Given the description of an element on the screen output the (x, y) to click on. 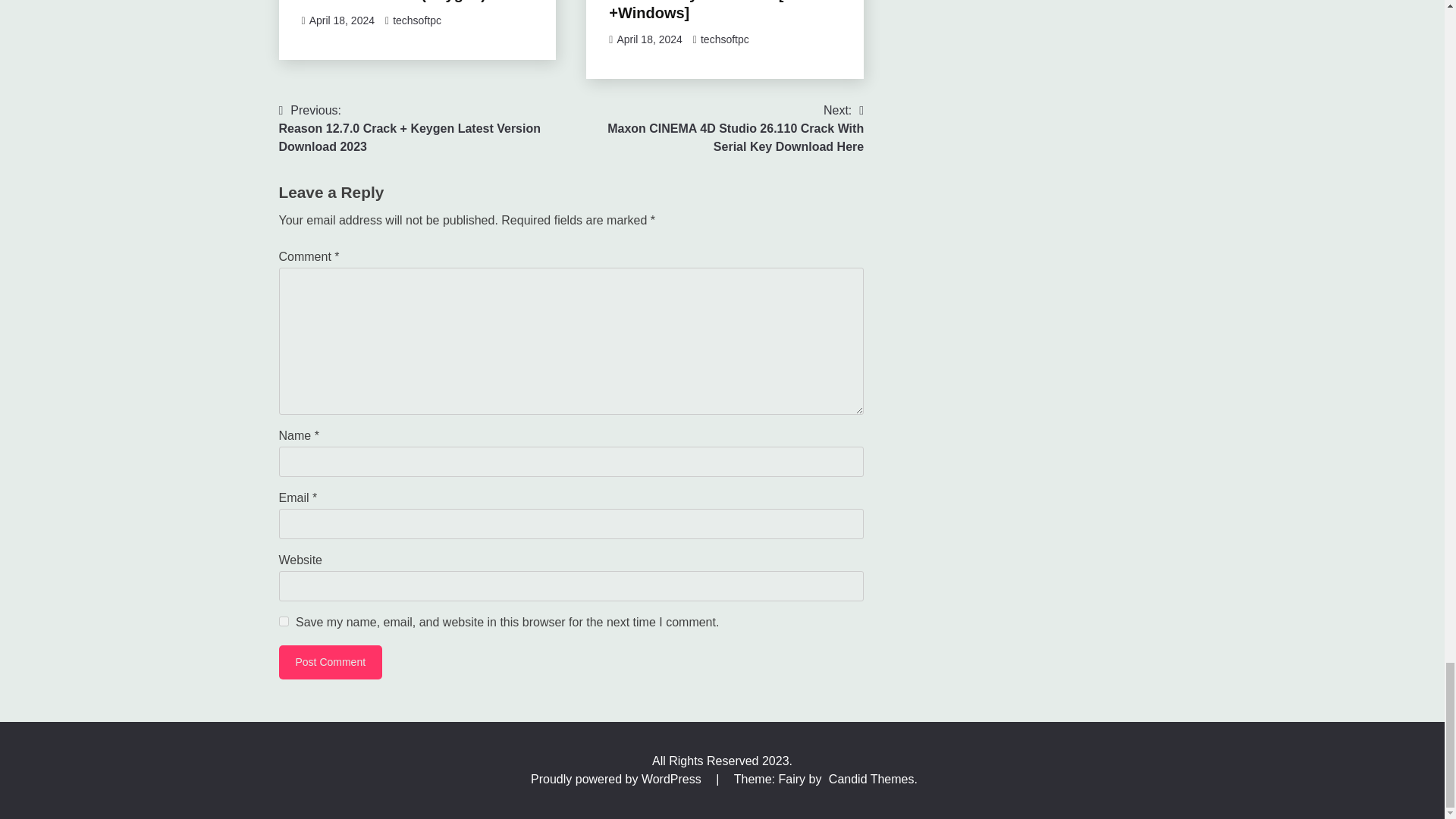
April 18, 2024 (341, 20)
Post Comment (330, 662)
yes (283, 621)
